Given the description of an element on the screen output the (x, y) to click on. 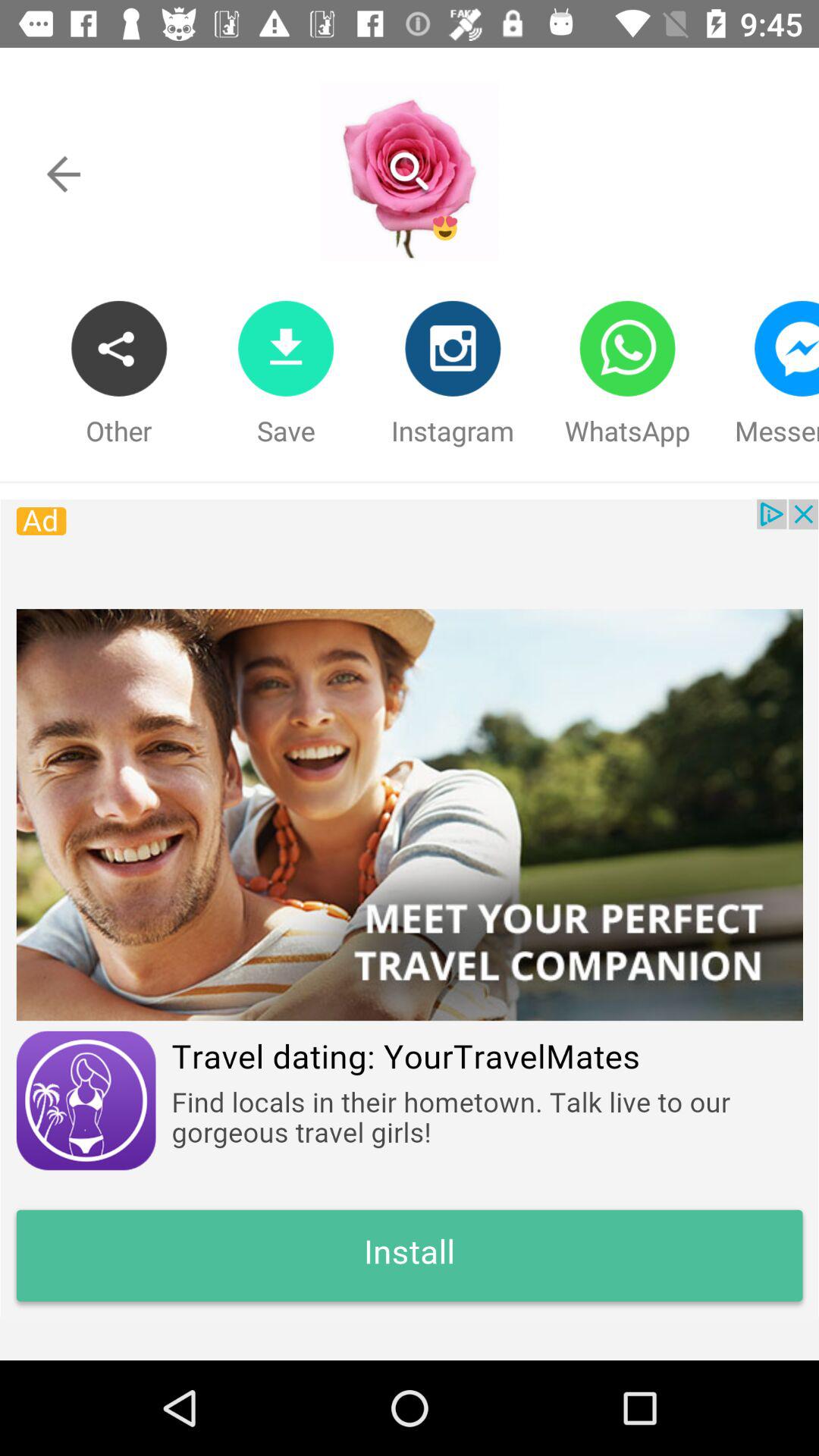
back button (63, 173)
